Given the description of an element on the screen output the (x, y) to click on. 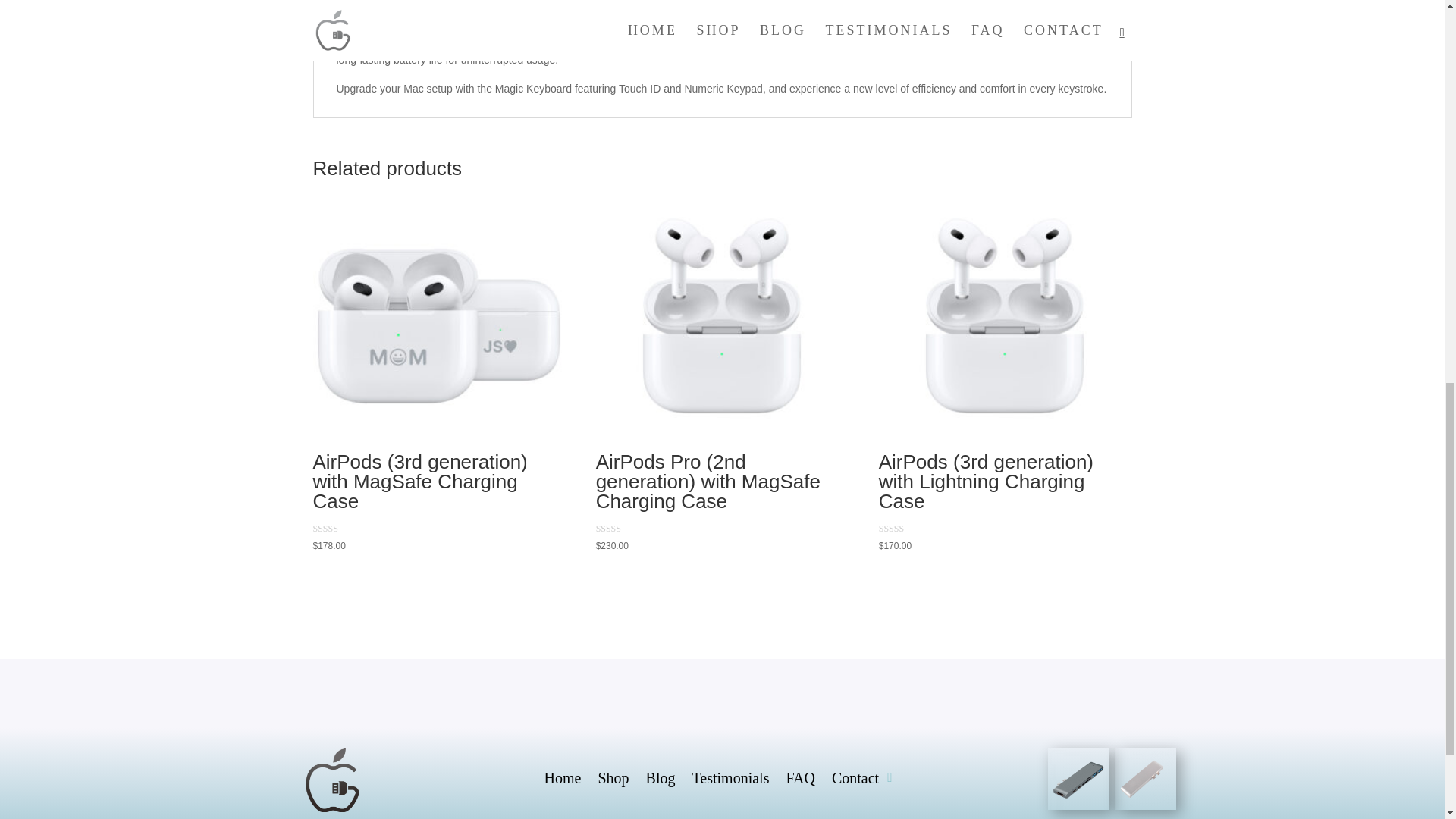
Home (562, 781)
Shop (612, 781)
